Given the description of an element on the screen output the (x, y) to click on. 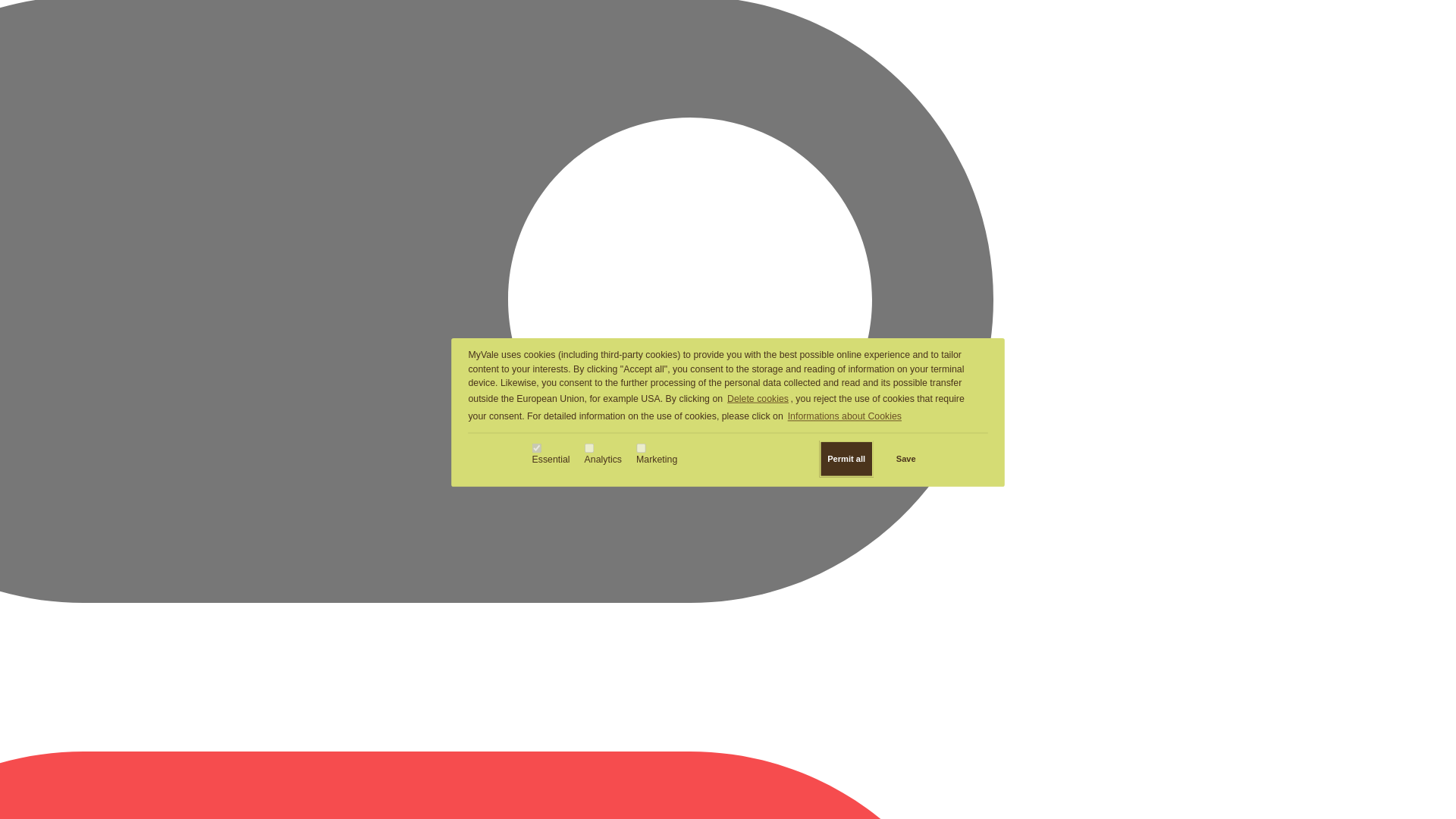
ANALYTICS (589, 448)
ESSENTIAL (536, 448)
MARKETING (641, 448)
